Given the description of an element on the screen output the (x, y) to click on. 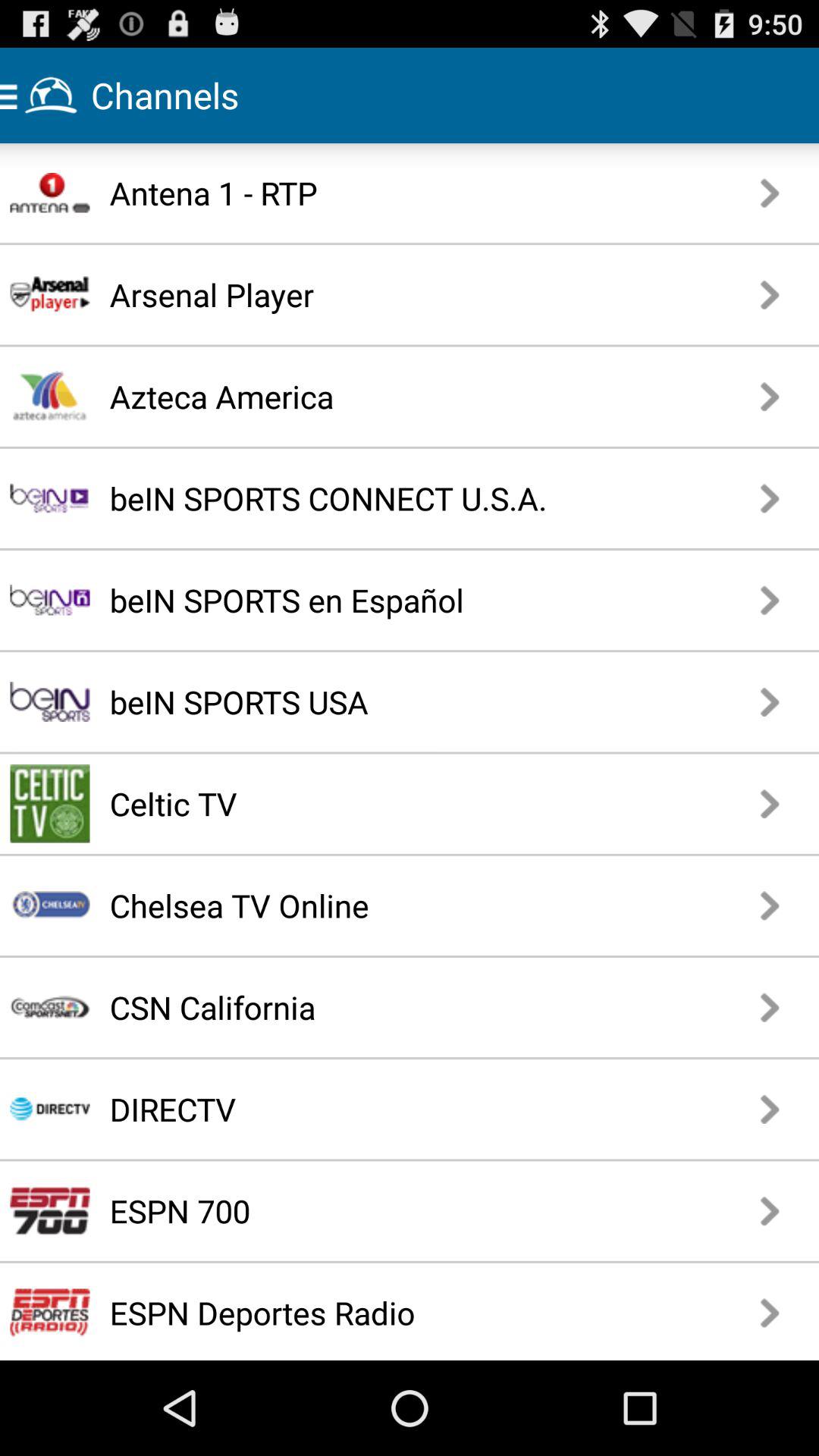
tap icon above bein sports connect app (369, 396)
